Given the description of an element on the screen output the (x, y) to click on. 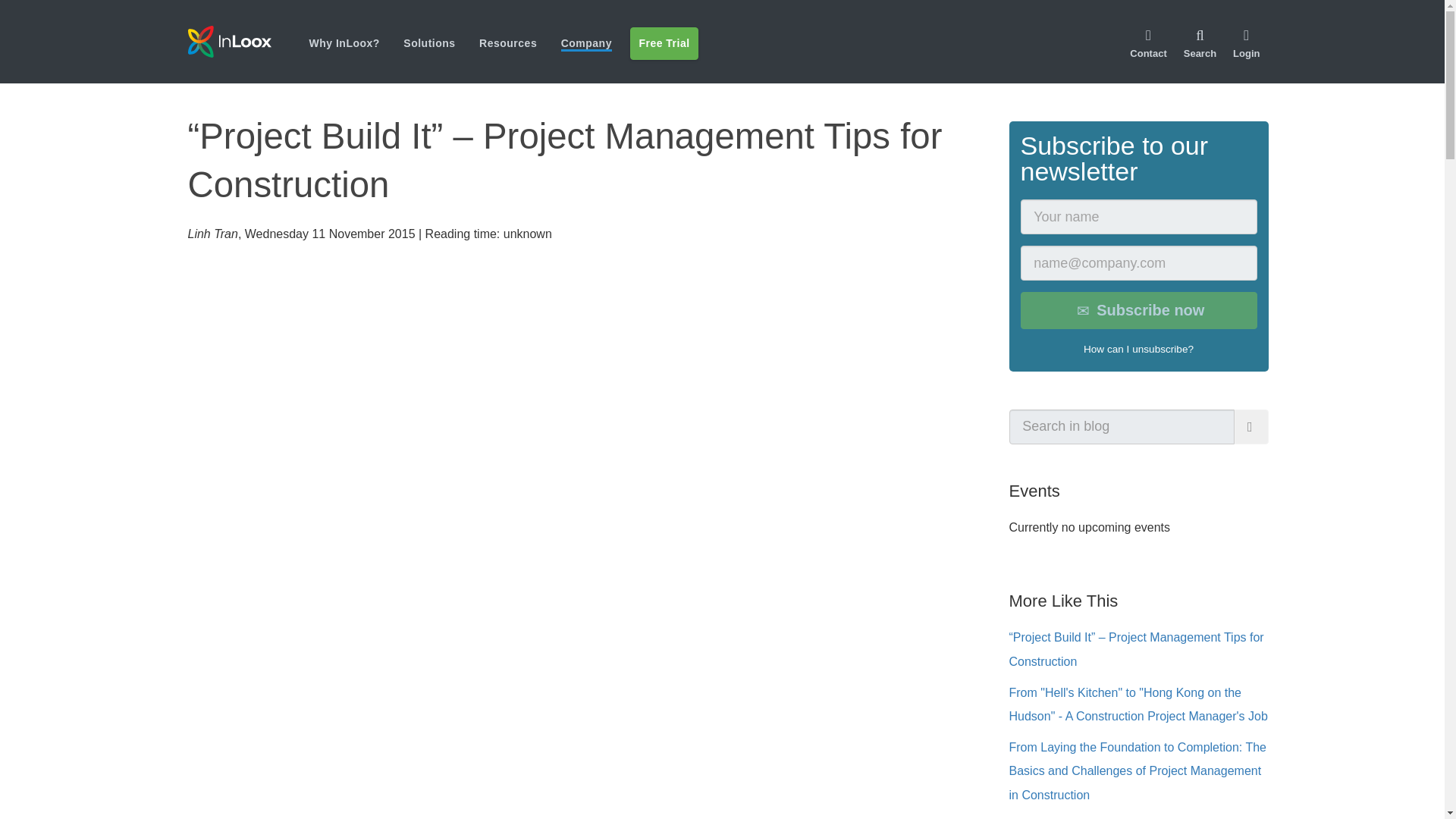
InLoox (247, 41)
InLoox (228, 41)
Why InLoox? (344, 42)
